Given the description of an element on the screen output the (x, y) to click on. 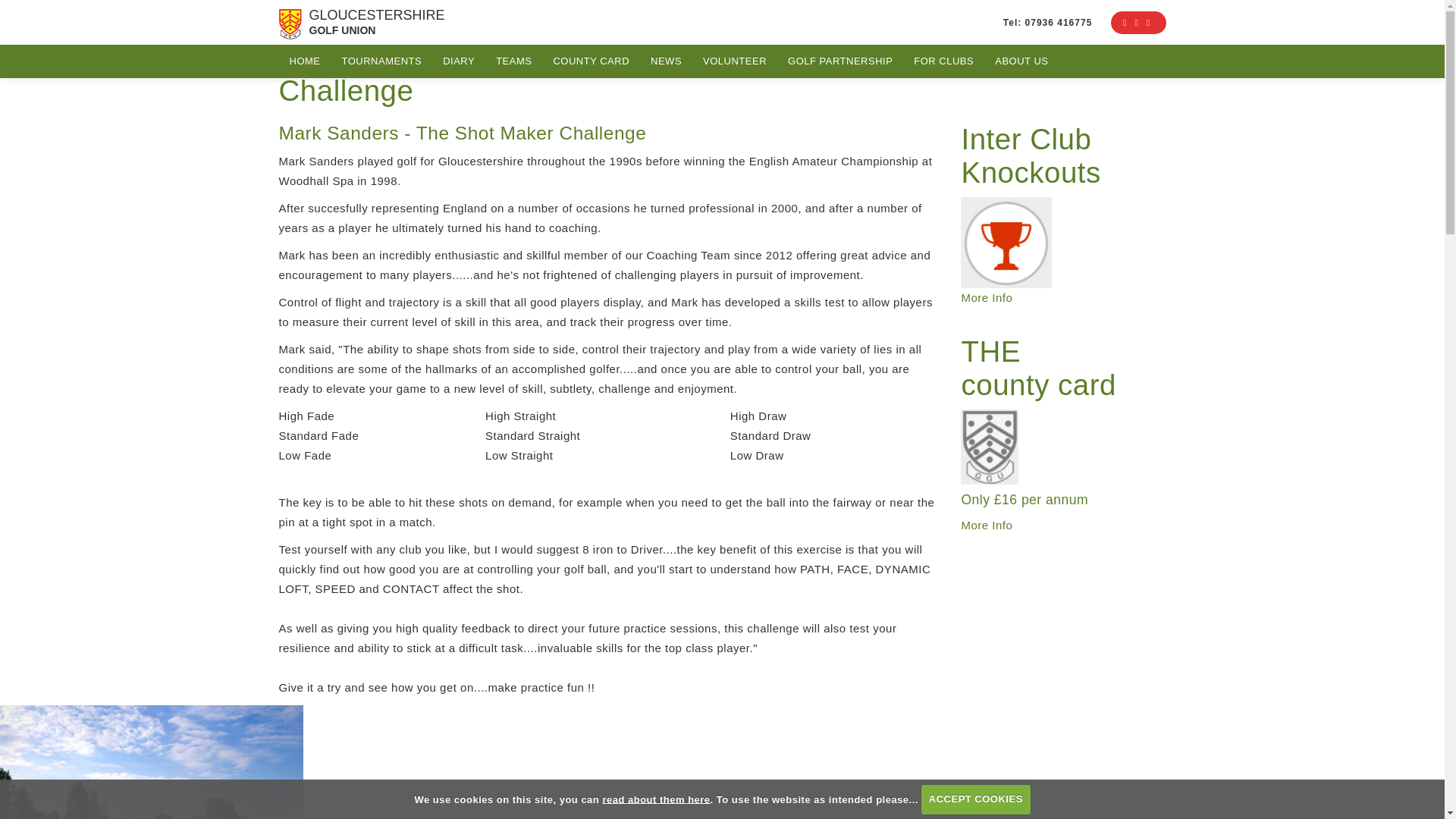
COUNTY CARD (590, 61)
read about our cookies (656, 798)
DIARY (458, 61)
NEWS (666, 61)
FOR CLUBS (943, 61)
TOURNAMENTS (381, 61)
VOLUNTEER (735, 61)
ABOUT US (1021, 61)
HOME (305, 61)
TEAMS (512, 61)
